Given the description of an element on the screen output the (x, y) to click on. 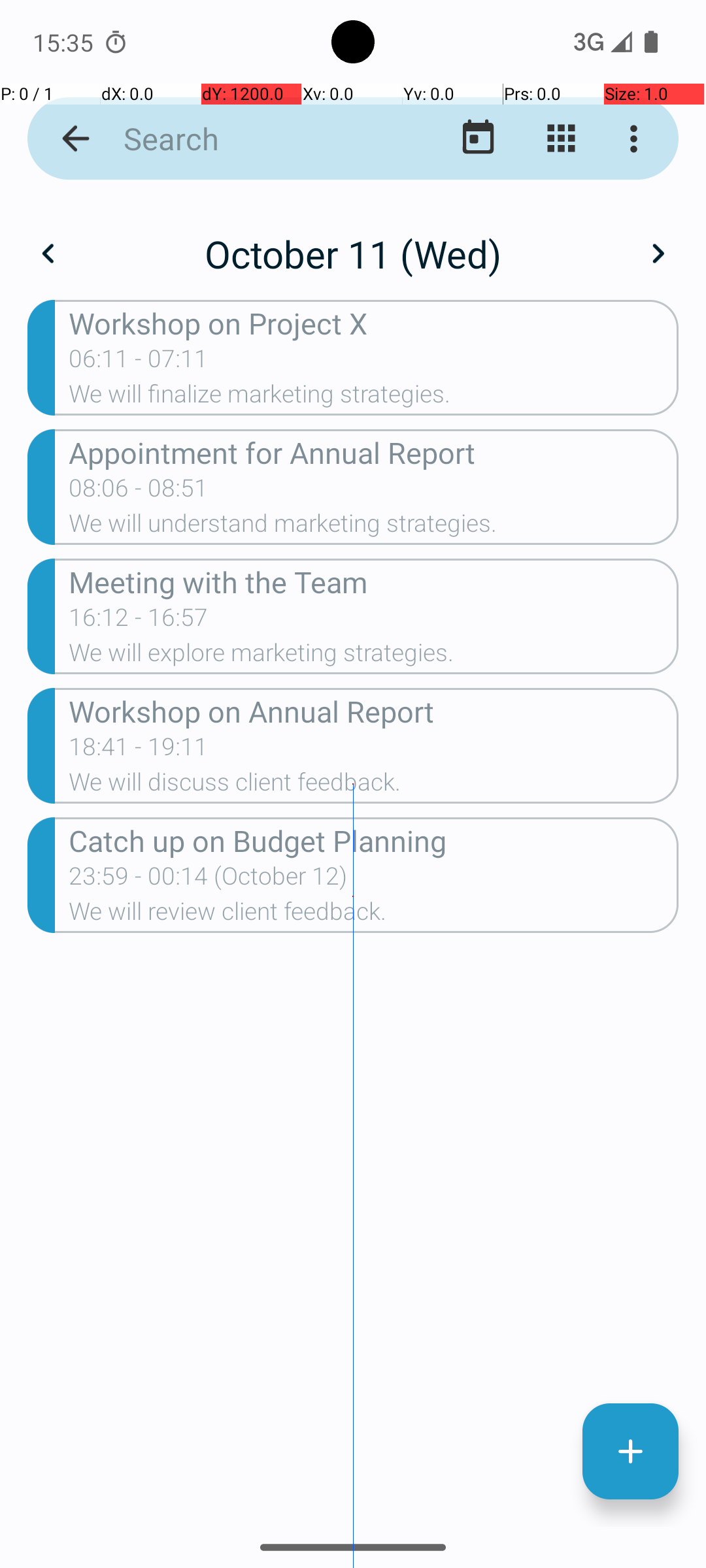
October 11 (Wed) Element type: android.widget.TextView (352, 253)
06:11 - 07:11 Element type: android.widget.TextView (137, 362)
We will finalize marketing strategies. Element type: android.widget.TextView (373, 397)
08:06 - 08:51 Element type: android.widget.TextView (137, 491)
We will understand marketing strategies. Element type: android.widget.TextView (373, 526)
16:12 - 16:57 Element type: android.widget.TextView (137, 620)
We will explore marketing strategies. Element type: android.widget.TextView (373, 656)
18:41 - 19:11 Element type: android.widget.TextView (137, 750)
We will discuss client feedback. Element type: android.widget.TextView (373, 785)
23:59 - 00:14 (October 12) Element type: android.widget.TextView (207, 879)
We will review client feedback. Element type: android.widget.TextView (373, 914)
